Given the description of an element on the screen output the (x, y) to click on. 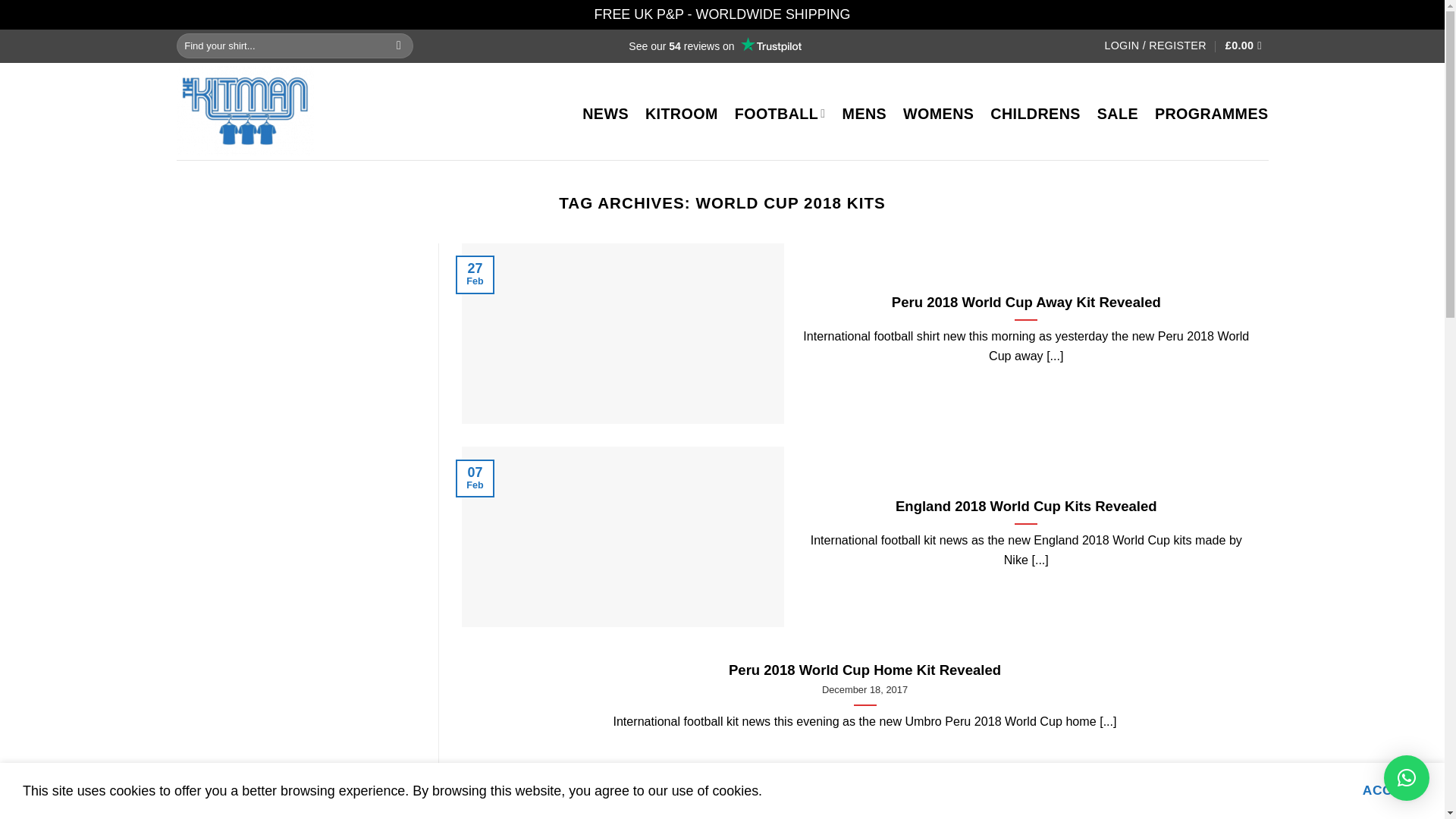
Basket (1246, 45)
Advertisement (295, 588)
Customer reviews powered by Trustpilot (714, 45)
FOOTBALL (780, 113)
Search (399, 45)
Advertisement (864, 788)
